Given the description of an element on the screen output the (x, y) to click on. 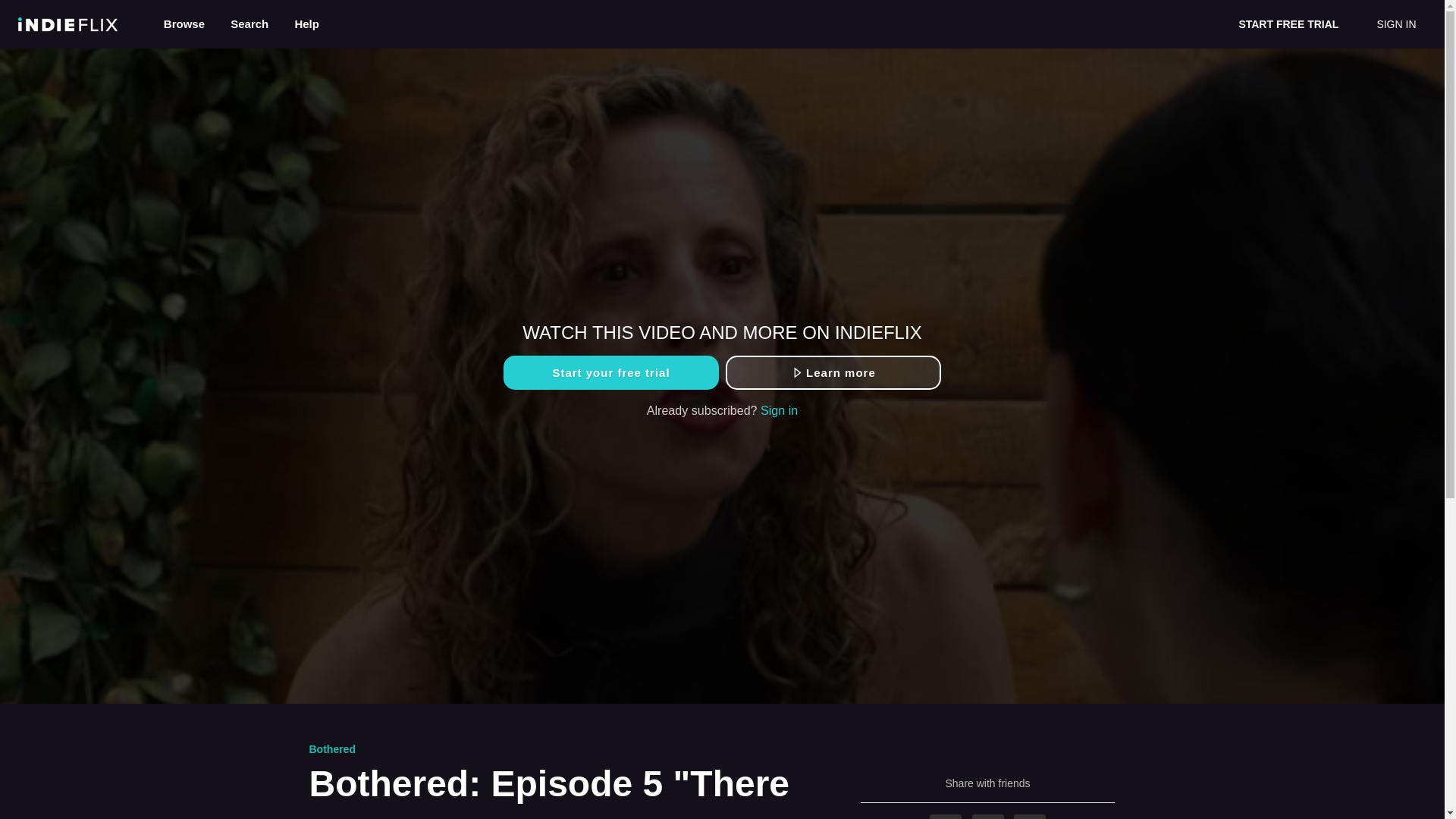
Bothered (331, 748)
Start your free trial (610, 372)
Email (1029, 816)
Browse (185, 23)
Search (250, 23)
Skip to main content (48, 7)
START FREE TRIAL (1288, 24)
Twitter (988, 816)
Learn more (832, 372)
Sign in (778, 409)
